Given the description of an element on the screen output the (x, y) to click on. 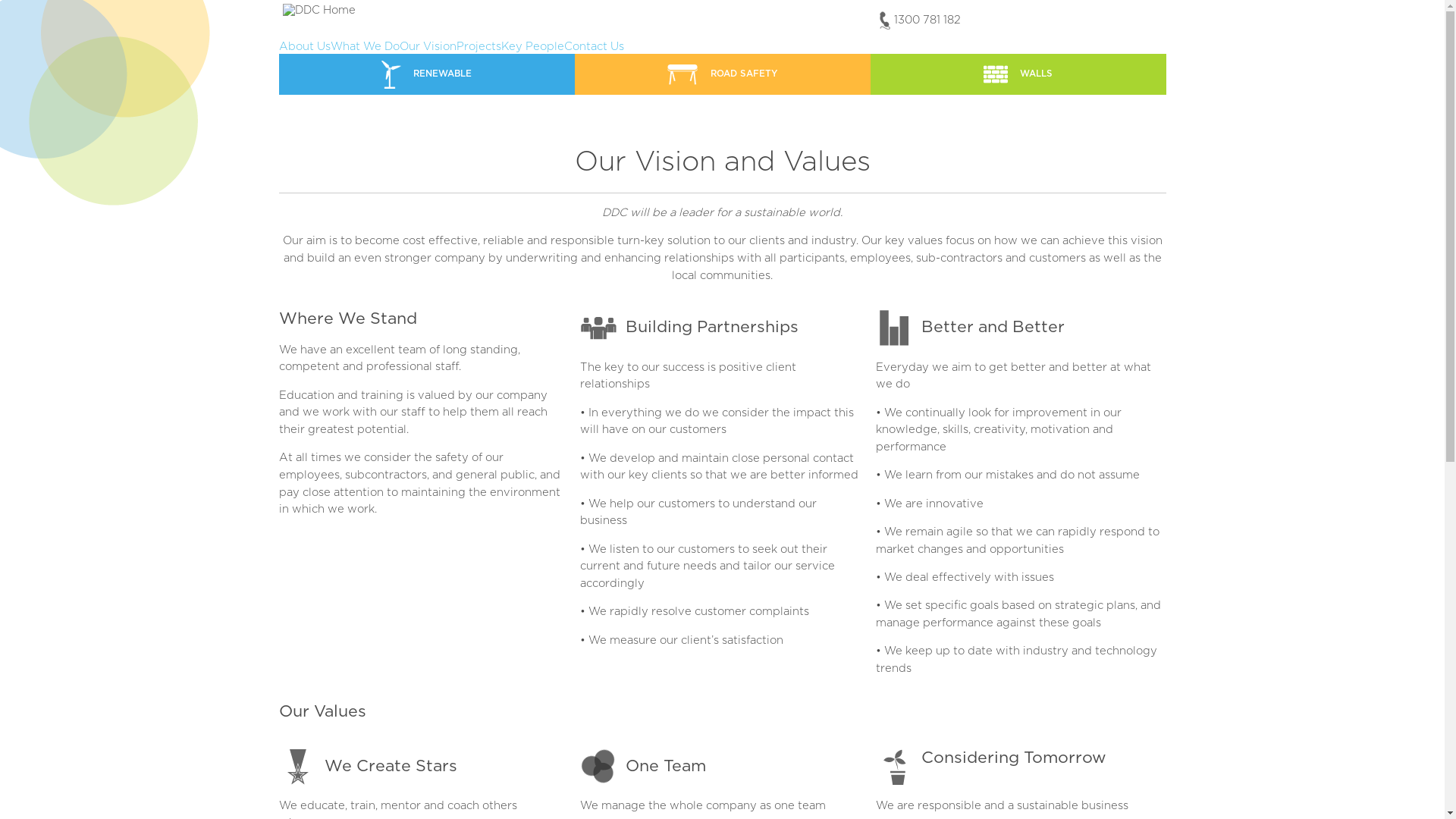
About Us Element type: text (304, 46)
   WALLS Element type: text (1018, 73)
Projects Element type: text (478, 46)
Key People Element type: text (531, 46)
Our Vision Element type: text (426, 46)
   RENEWABLE Element type: text (426, 73)
   ROAD SAFETY Element type: text (722, 73)
Contact Us Element type: text (594, 46)
What We Do Element type: text (364, 46)
